Given the description of an element on the screen output the (x, y) to click on. 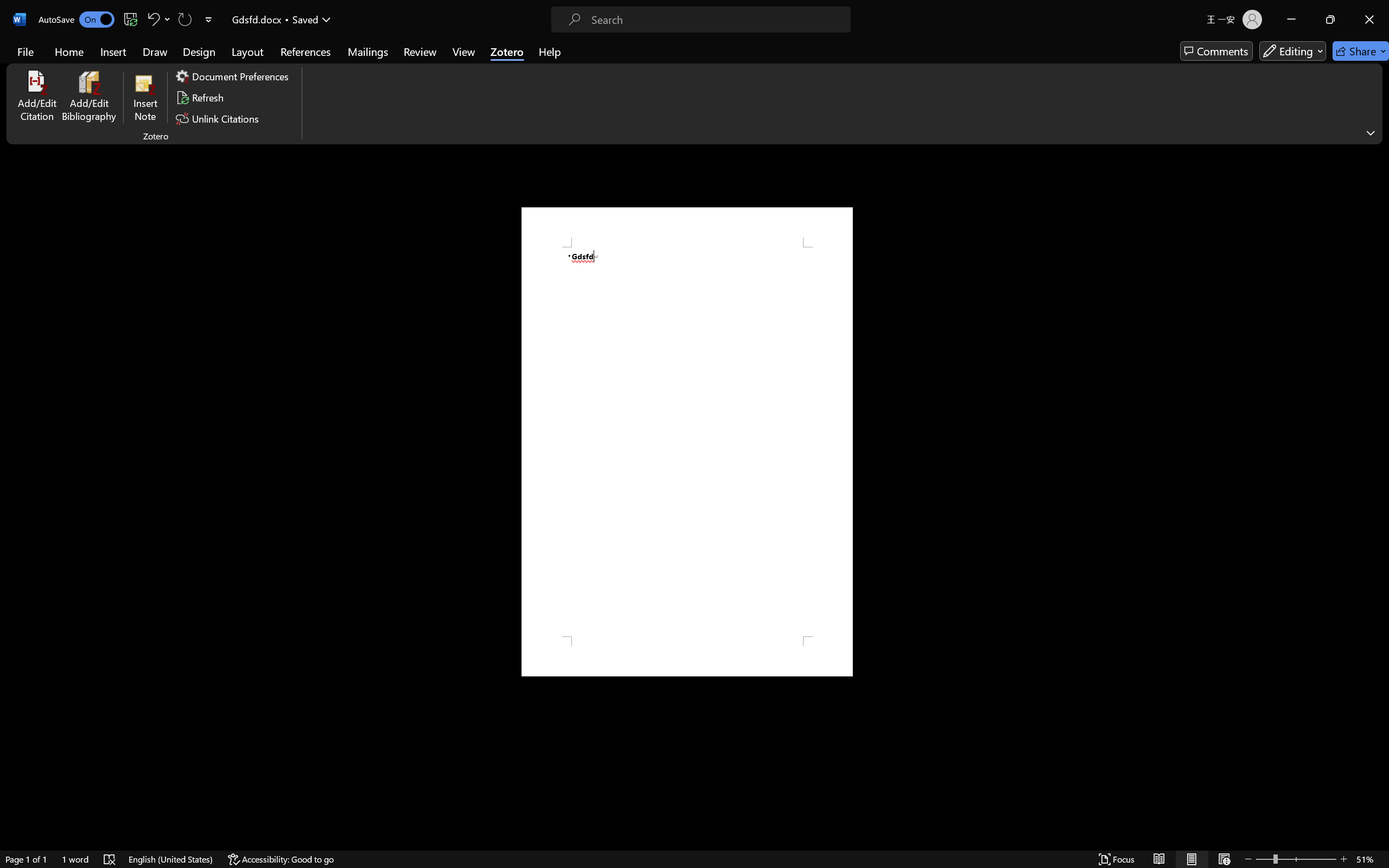
Page 1 content (686, 441)
